Given the description of an element on the screen output the (x, y) to click on. 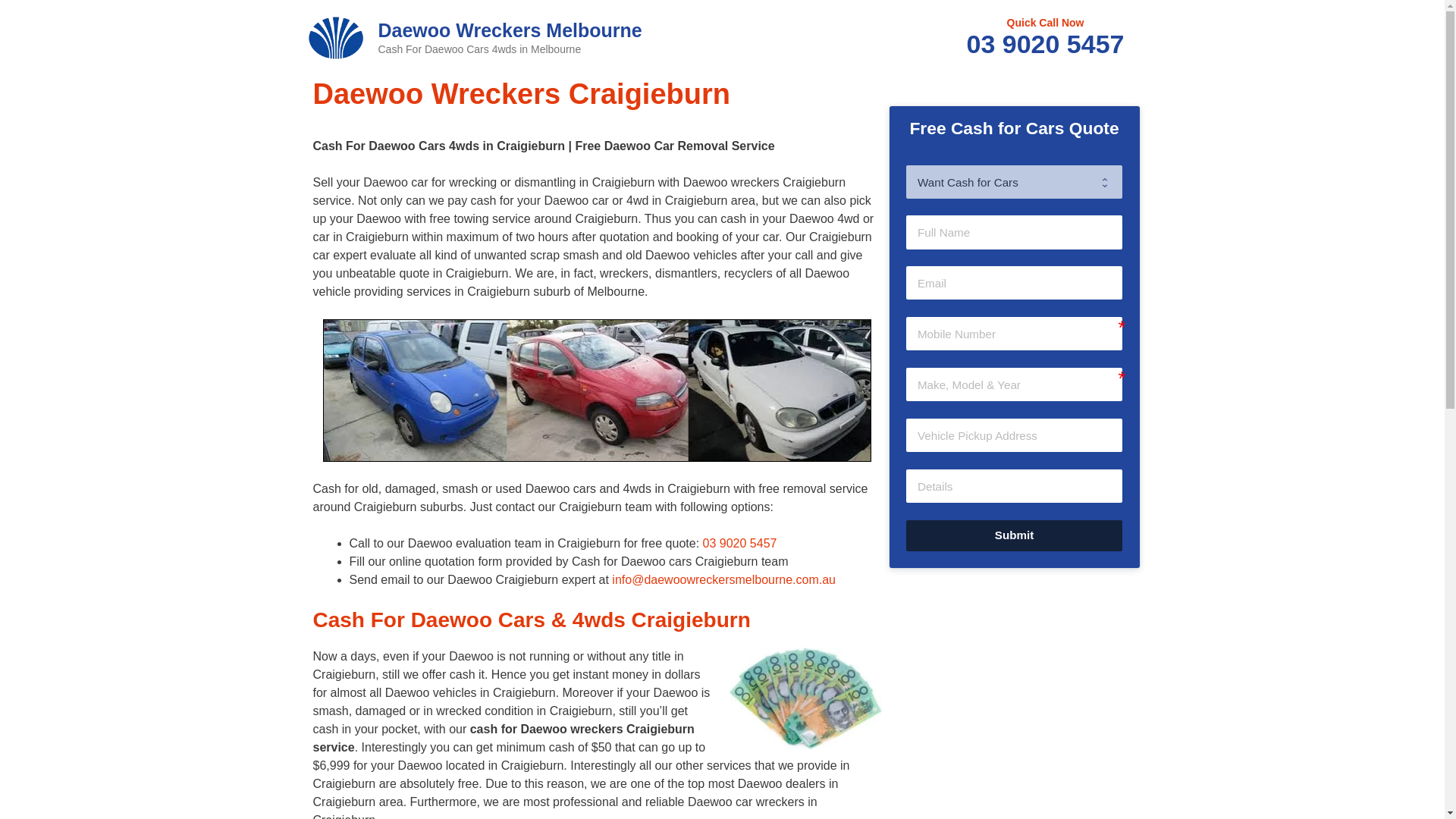
cash for wrecking daewoo Craigieburn (805, 698)
Submit (1013, 535)
daewoo wreckers Craigieburn (596, 390)
Daewoo Wreckers Melbourne (334, 37)
03 9020 5457 (740, 543)
Daewoo Wreckers Melbourne (509, 29)
Daewoo Wreckers Melbourne (334, 36)
03 9020 5457 (1045, 43)
